Given the description of an element on the screen output the (x, y) to click on. 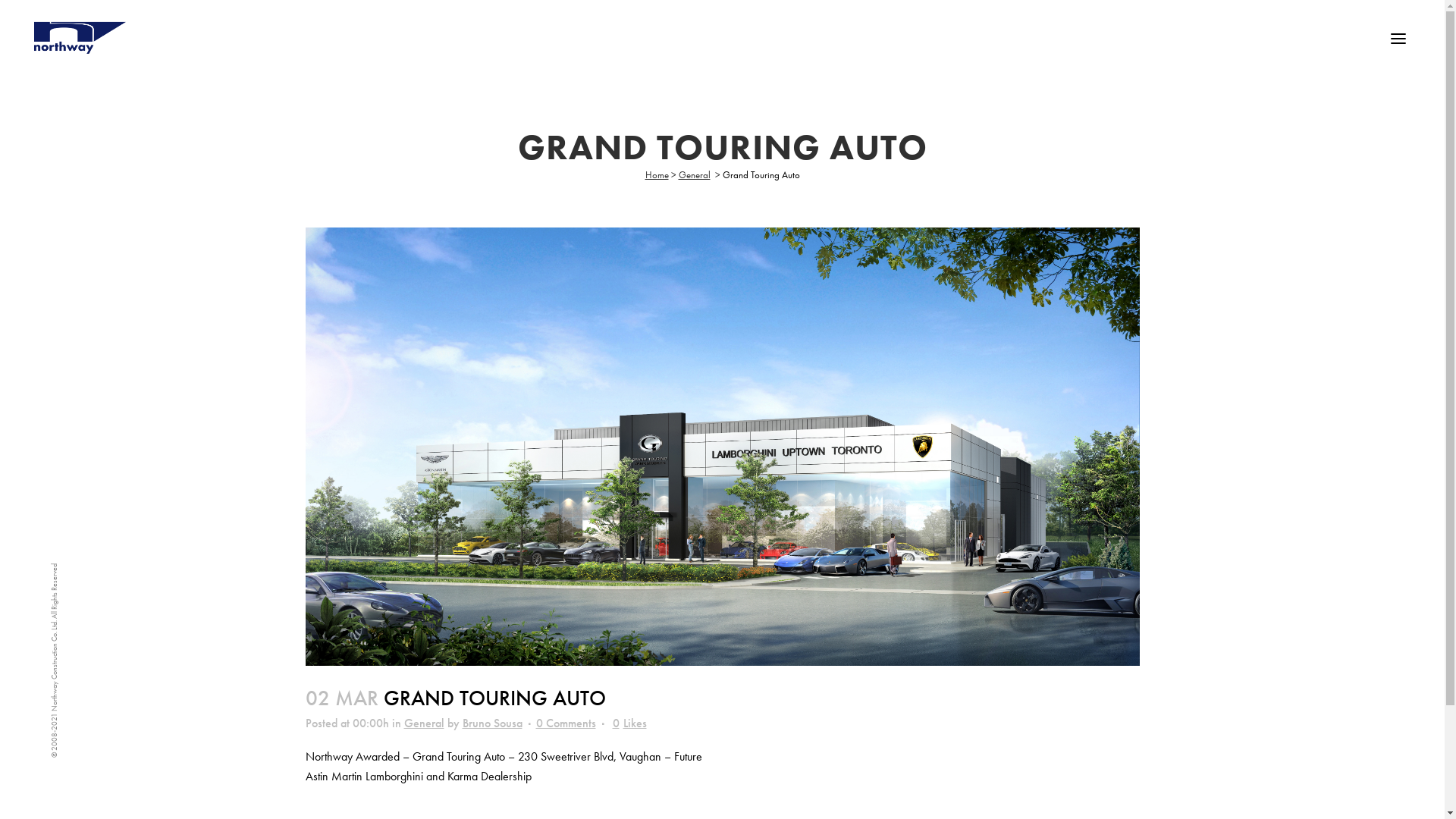
0 Likes Element type: text (629, 722)
General Element type: text (423, 722)
General Element type: text (693, 174)
Home Element type: text (656, 174)
Bruno Sousa Element type: text (492, 722)
0 Comments Element type: text (565, 722)
